Given the description of an element on the screen output the (x, y) to click on. 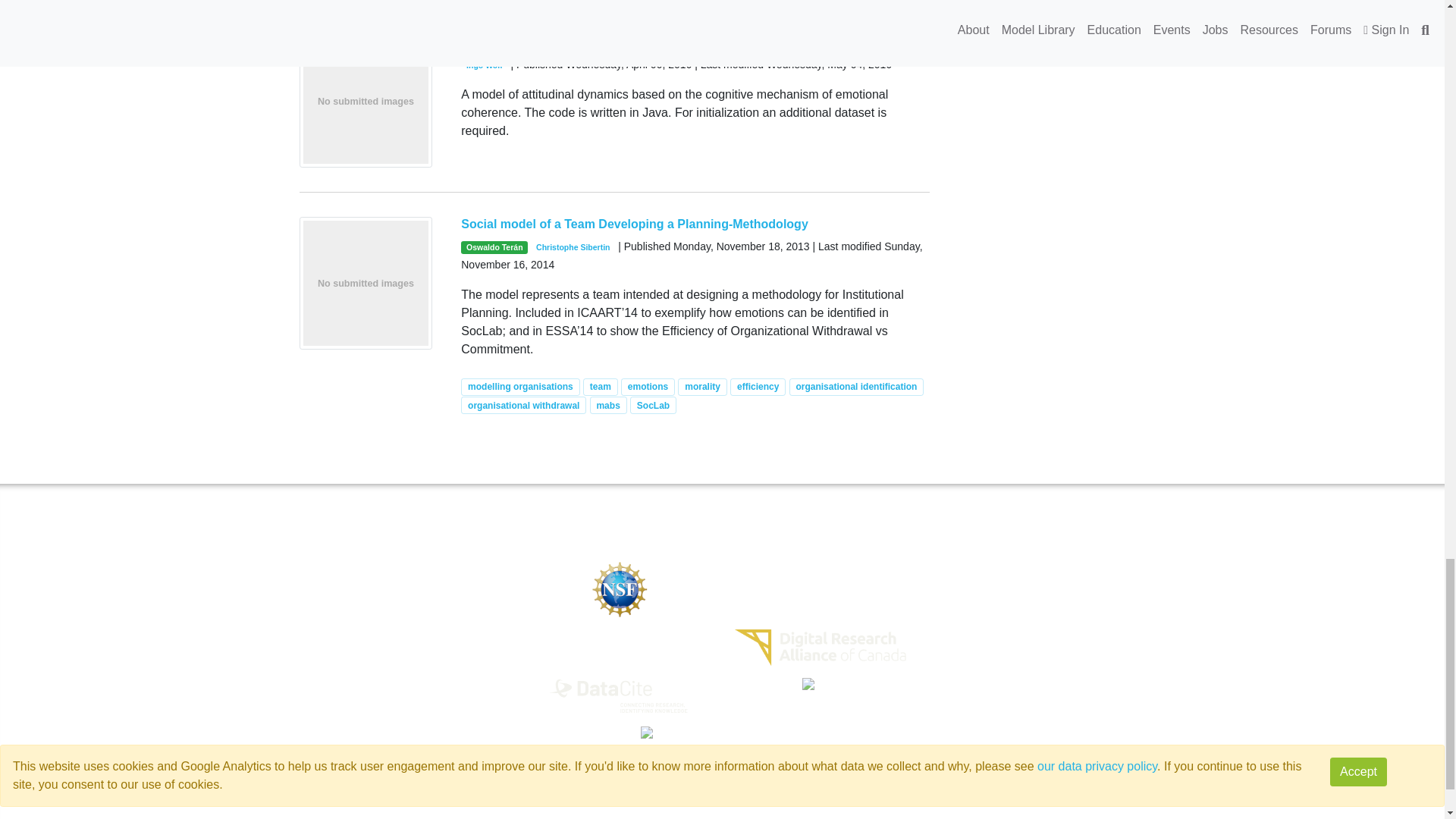
CoMSES Net on GitHub (794, 805)
RSS Feed (1109, 648)
YouTube Channel (1113, 599)
